Given the description of an element on the screen output the (x, y) to click on. 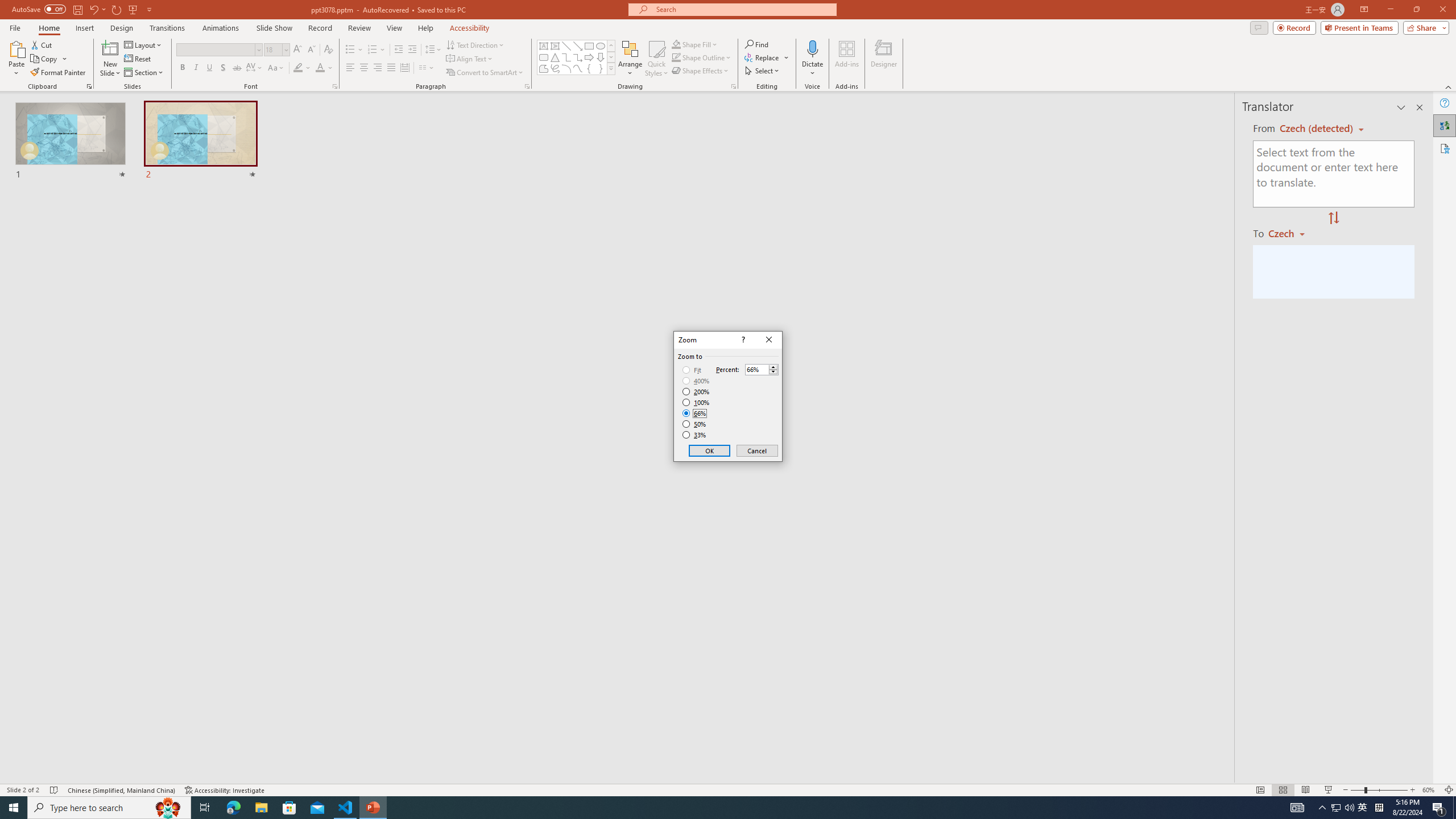
Czech (1291, 232)
Czech (detected) (1317, 128)
